Given the description of an element on the screen output the (x, y) to click on. 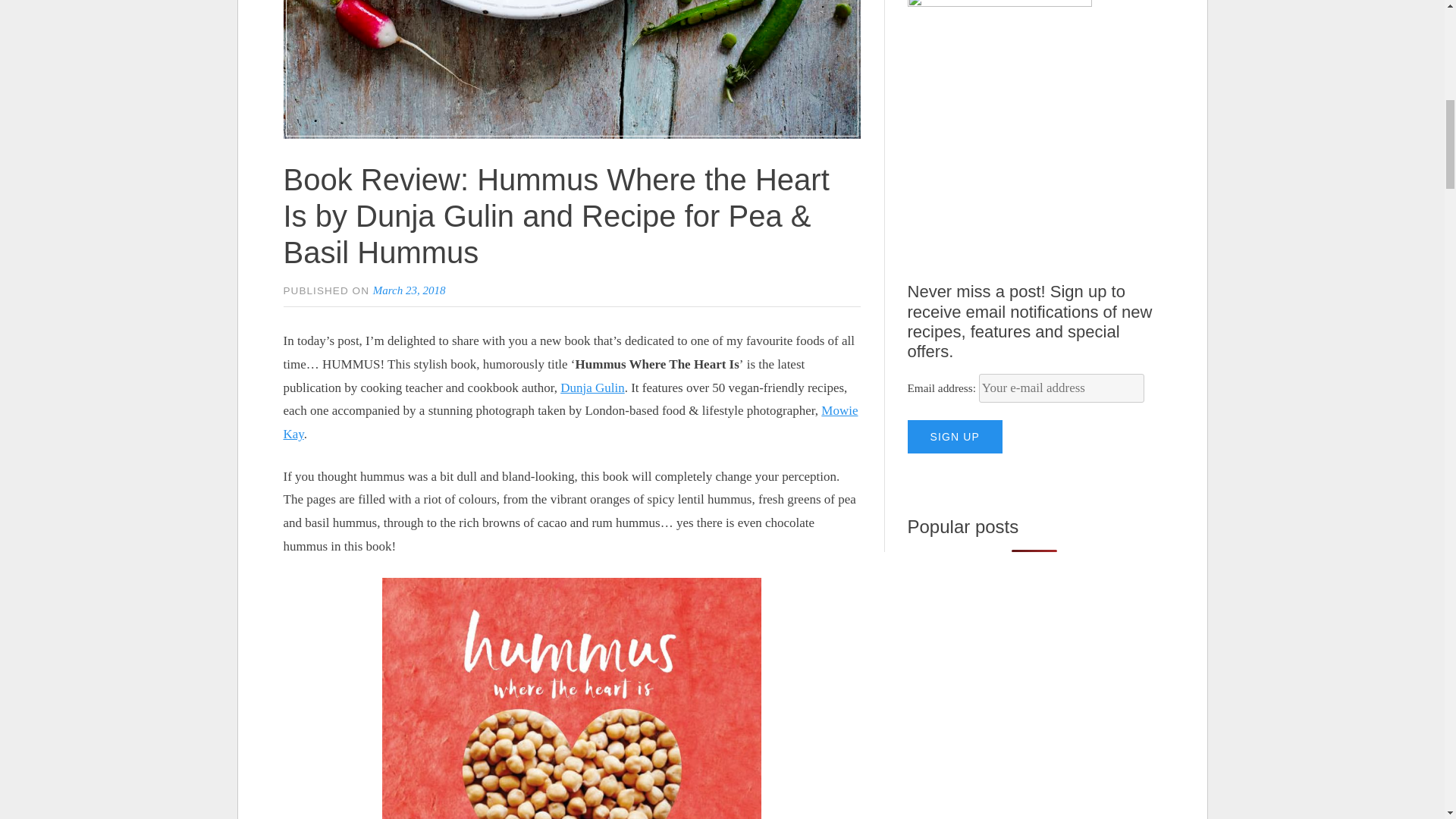
Mowie Kay (571, 422)
Dunja Gulin (592, 387)
March 23, 2018 (408, 290)
Sign up (955, 436)
